Given the description of an element on the screen output the (x, y) to click on. 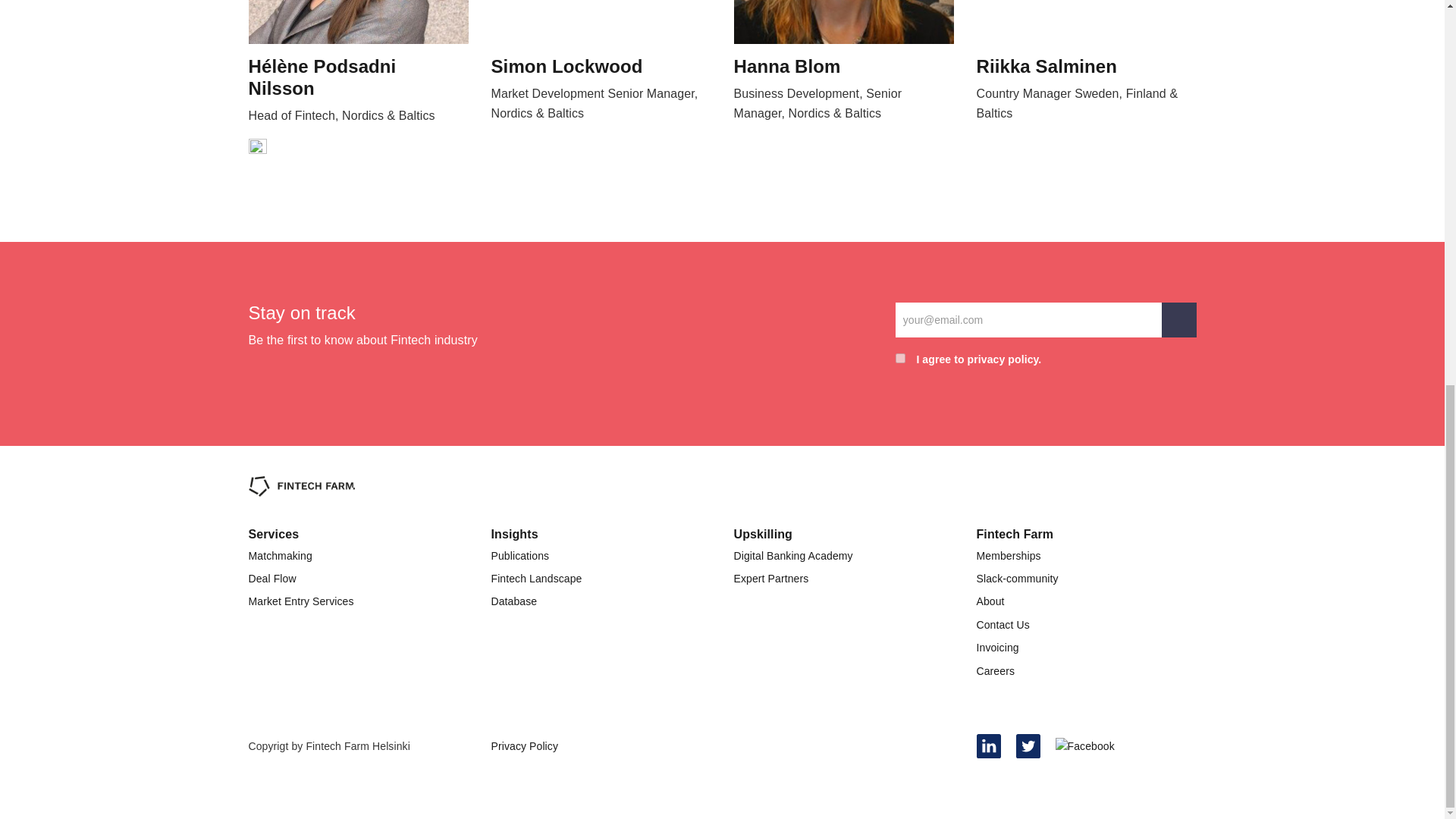
1 (900, 357)
Matchmaking (280, 555)
Deal Flow (272, 578)
Submit (1178, 319)
Submit (1178, 319)
